Given the description of an element on the screen output the (x, y) to click on. 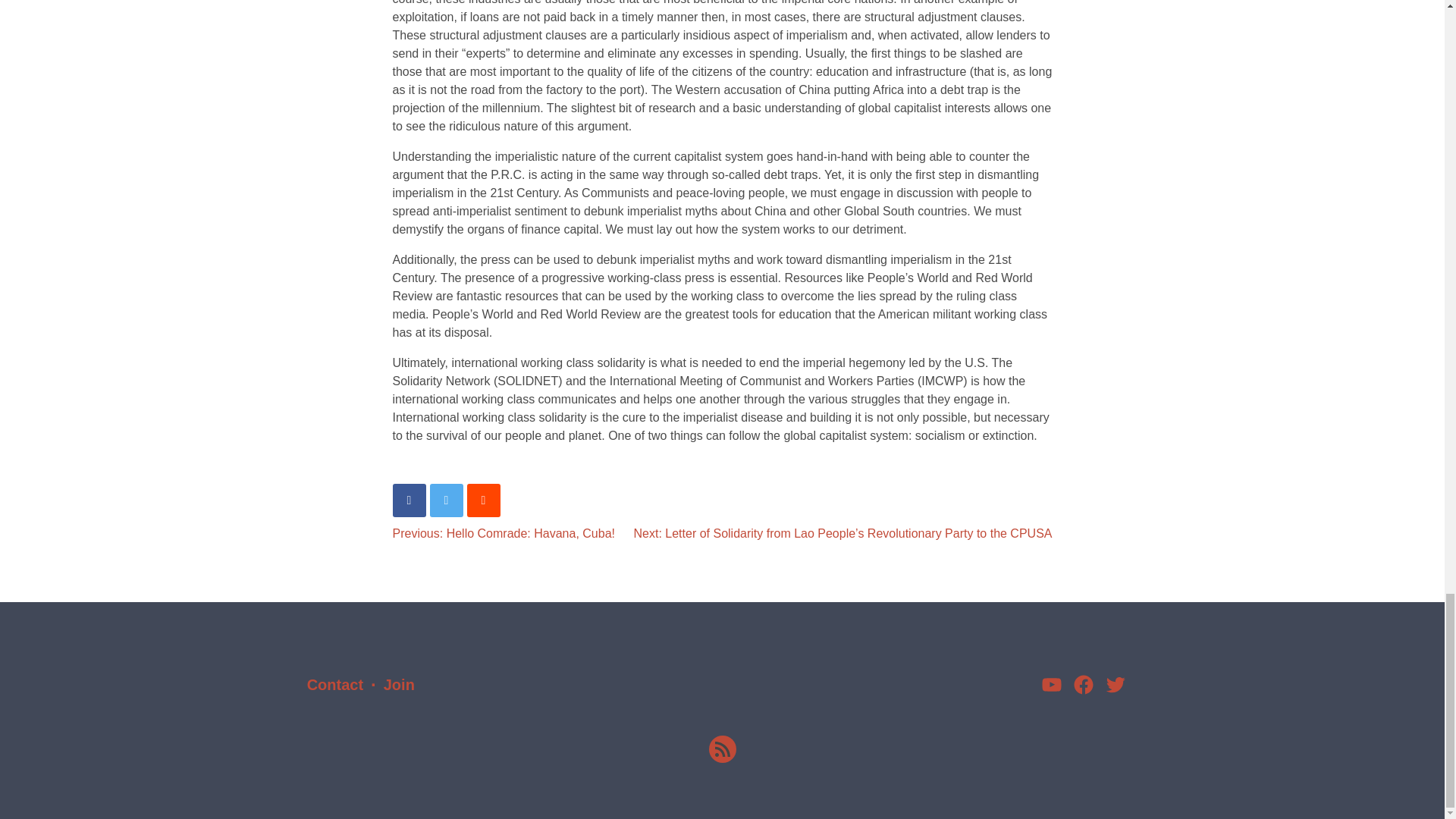
Join (399, 684)
Contact (334, 684)
YouTube (1051, 684)
Previous: Hello Comrade: Havana, Cuba! (504, 533)
Facebook (1082, 684)
Twitter (1114, 684)
